Given the description of an element on the screen output the (x, y) to click on. 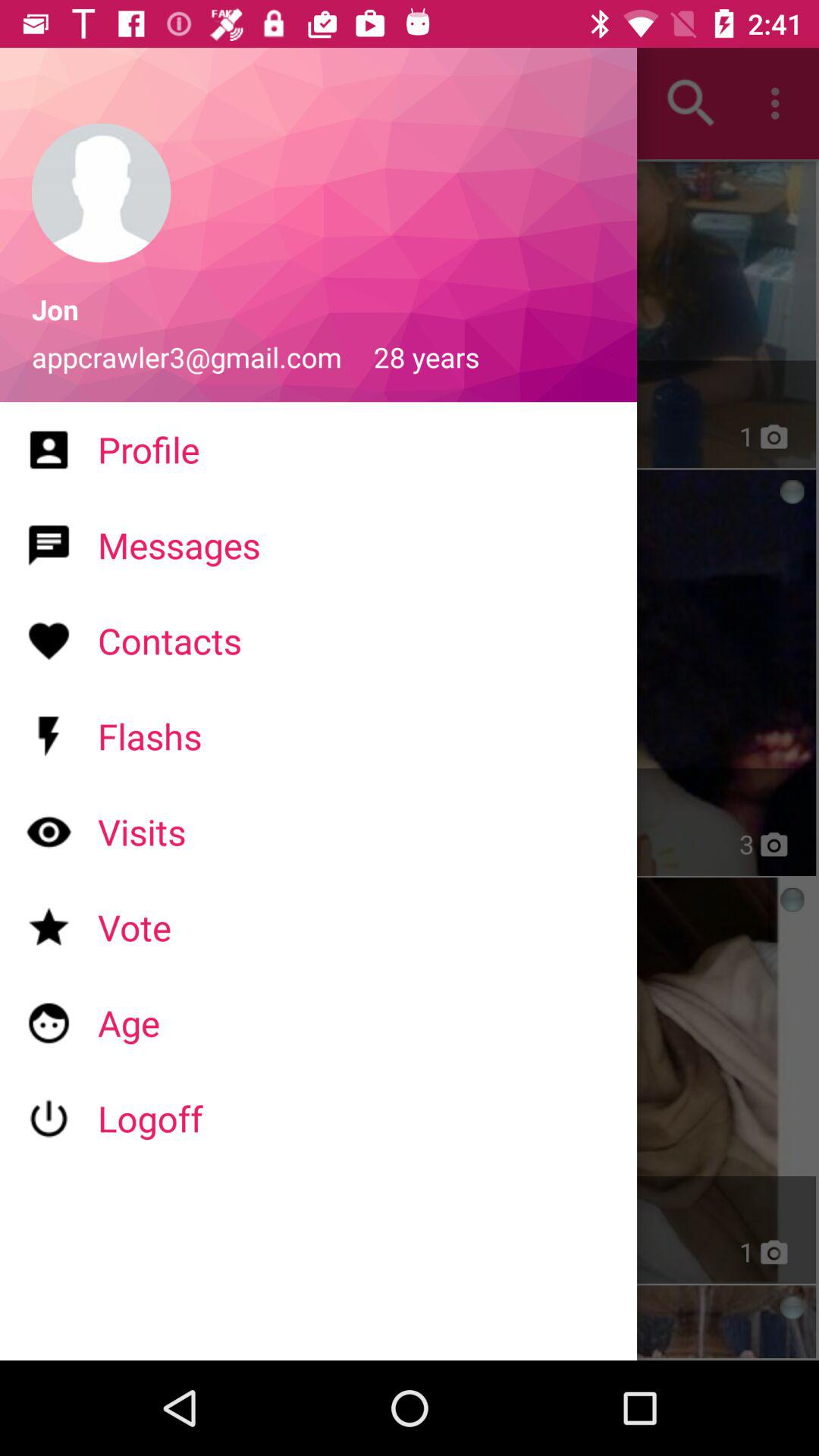
select the icon which is left to messages (49, 545)
select the icon which is left to the text vote (49, 928)
